Given the description of an element on the screen output the (x, y) to click on. 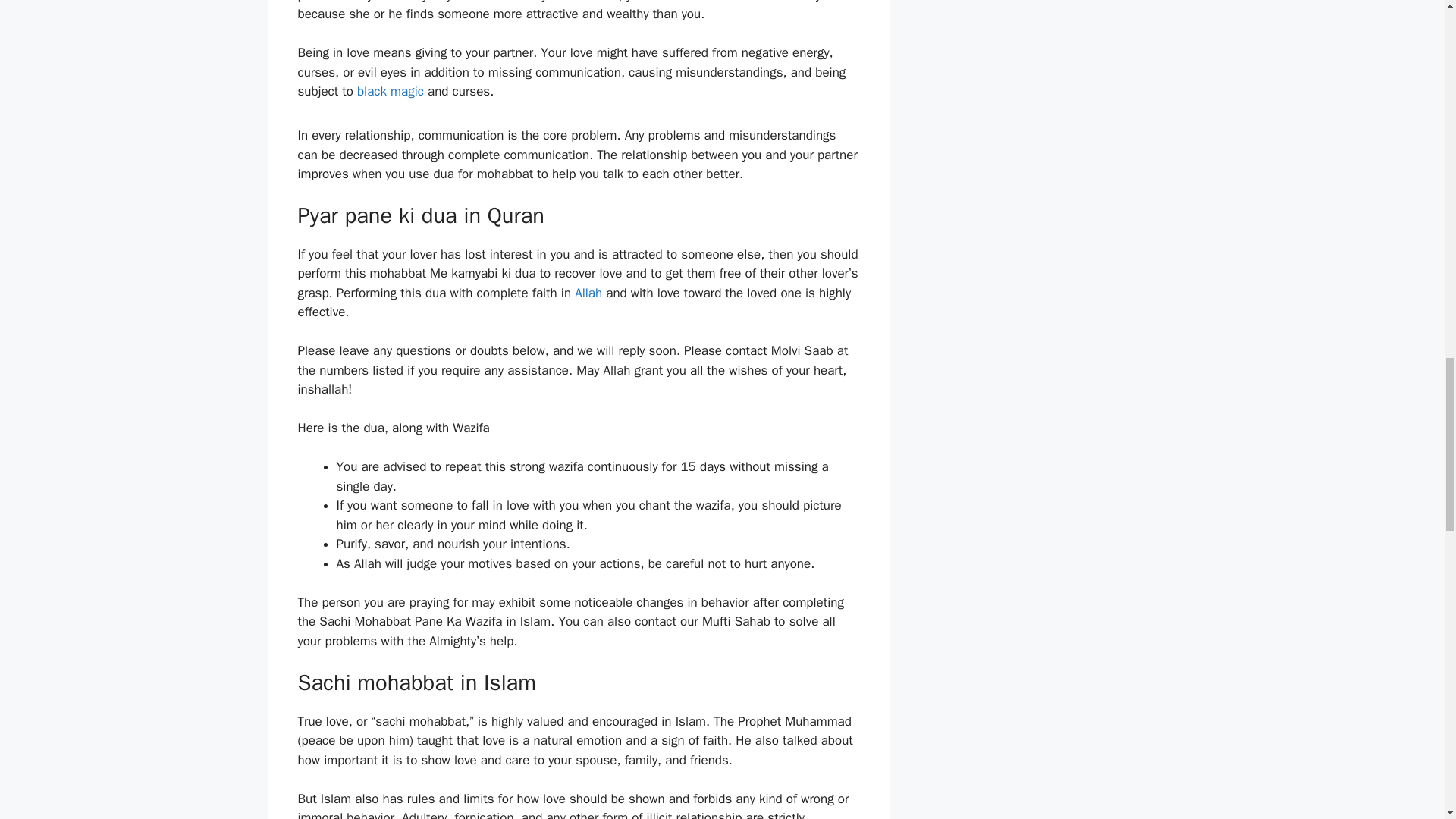
black magic (389, 91)
Allah (588, 293)
